Given the description of an element on the screen output the (x, y) to click on. 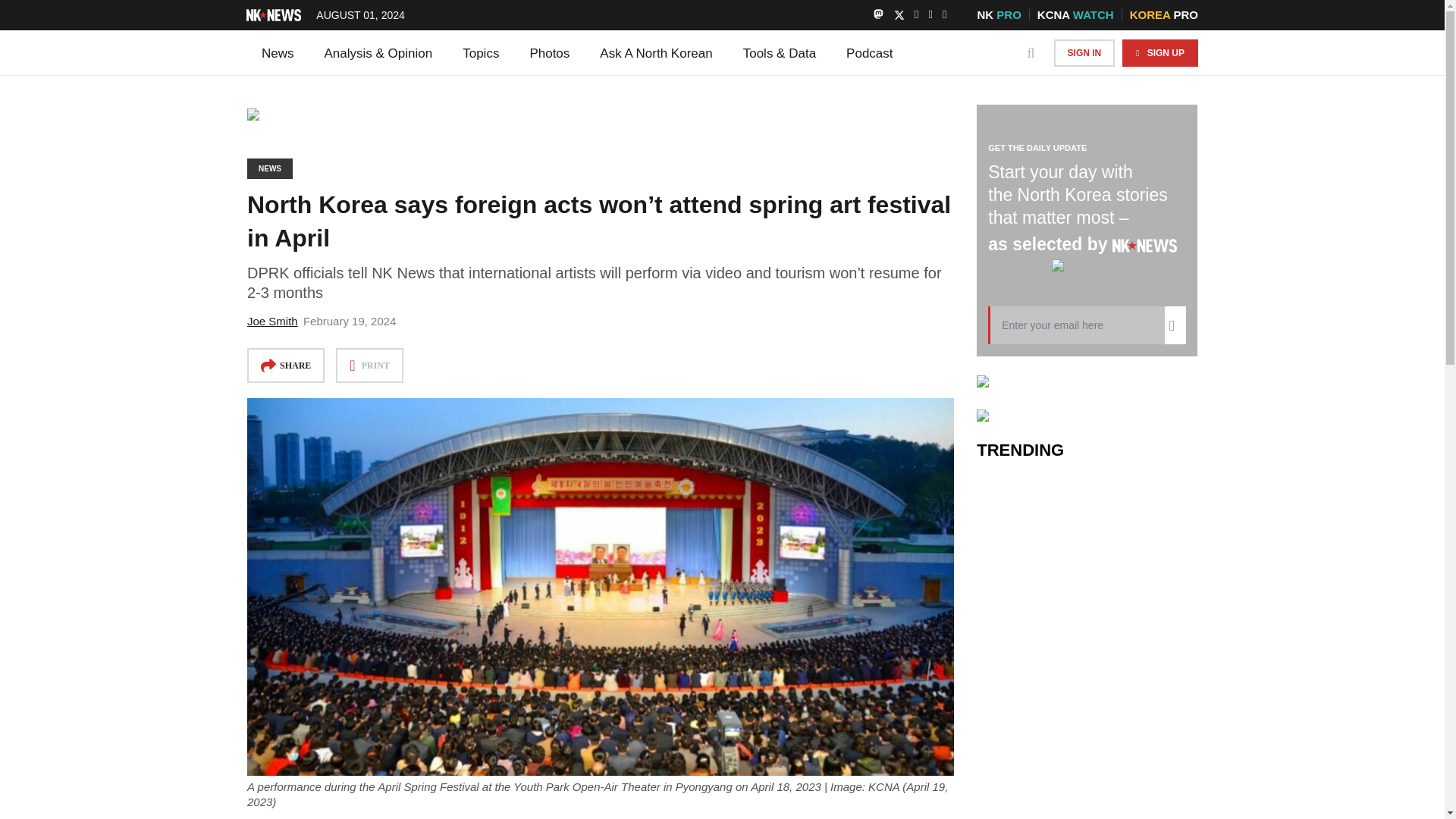
NK PRO (998, 14)
KCNA WATCH (1074, 14)
KOREA PRO (1163, 14)
